Given the description of an element on the screen output the (x, y) to click on. 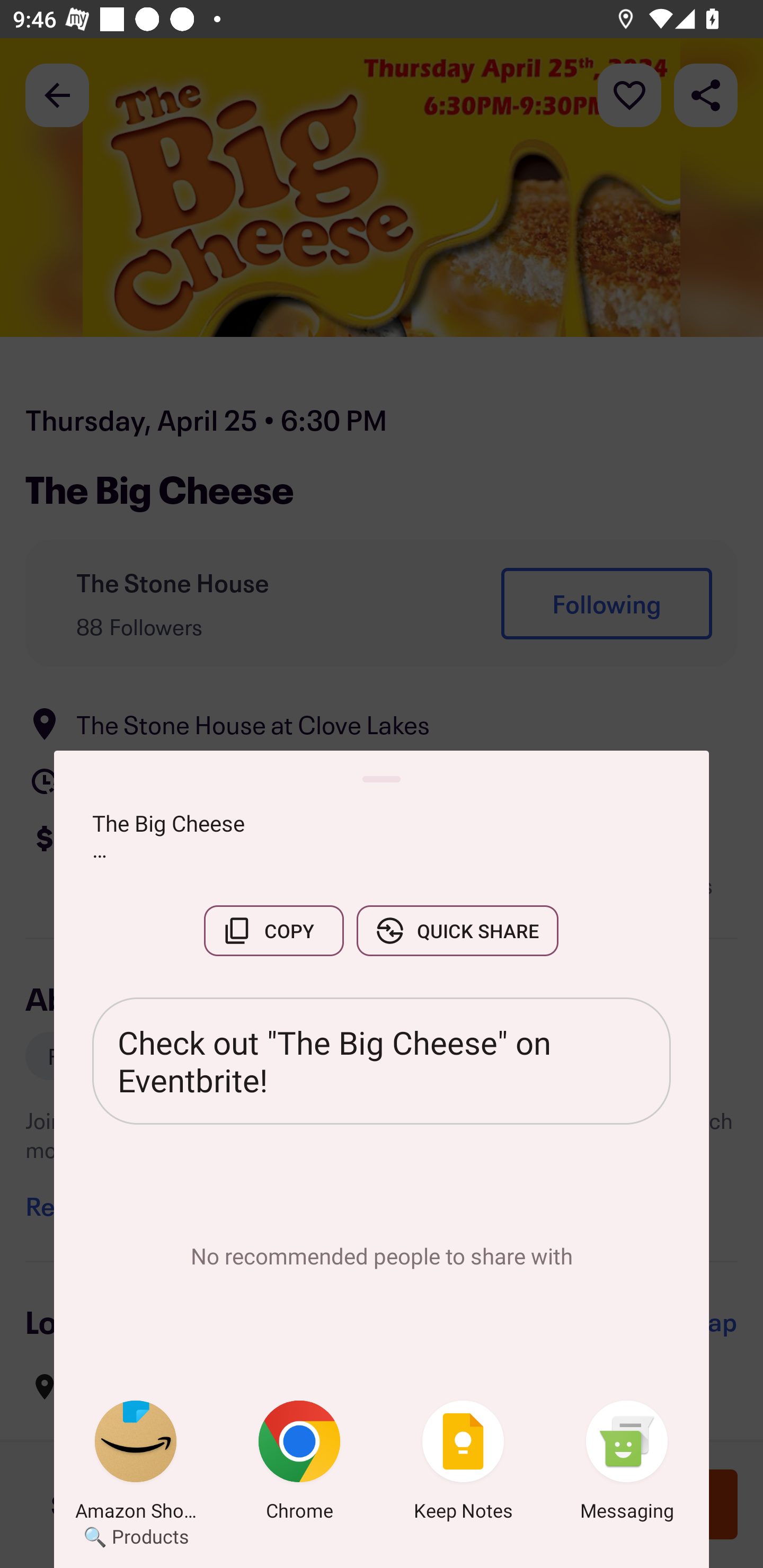
COPY (273, 930)
QUICK SHARE (457, 930)
Amazon Shopping 🔍 Products (135, 1463)
Chrome (299, 1463)
Keep Notes (463, 1463)
Messaging (626, 1463)
